Given the description of an element on the screen output the (x, y) to click on. 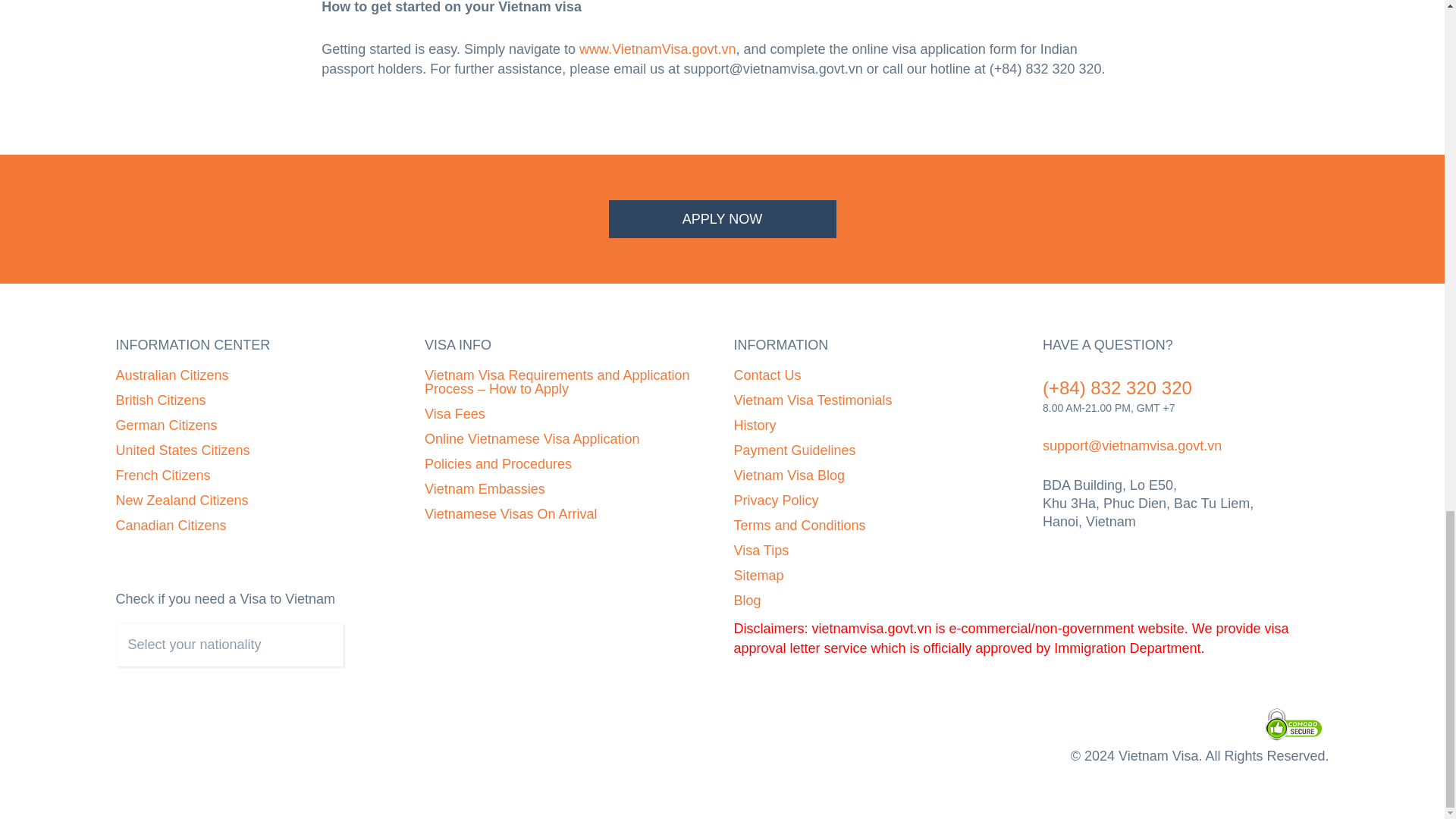
Online Vietnamese Visa Application (532, 438)
INFORMATION CENTER (258, 344)
Australian Citizens (171, 375)
Email us (1131, 445)
Call us (1117, 387)
www.VietnamVisa.govt.vn (657, 48)
United States Citizens (181, 450)
German Citizens (165, 425)
APPLY NOW (721, 218)
Visa Fees (454, 413)
